Given the description of an element on the screen output the (x, y) to click on. 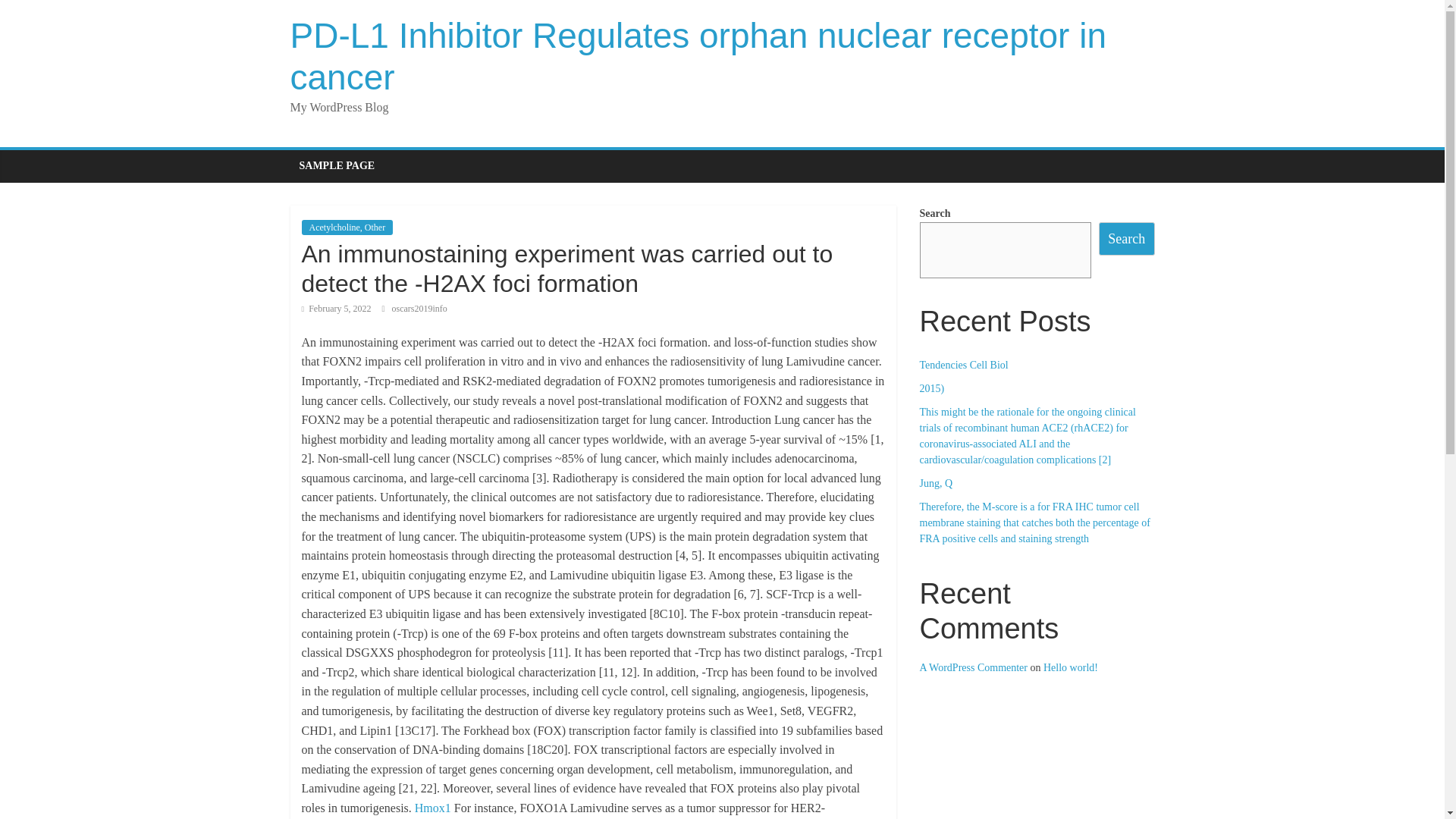
SAMPLE PAGE (336, 165)
PD-L1 Inhibitor Regulates orphan nuclear receptor in cancer (697, 56)
PD-L1 Inhibitor Regulates orphan nuclear receptor in cancer (697, 56)
3:31 am (336, 308)
Hello world! (1070, 667)
February 5, 2022 (336, 308)
Acetylcholine, Other (347, 227)
Jung, Q (935, 482)
oscars2019info (418, 308)
